Given the description of an element on the screen output the (x, y) to click on. 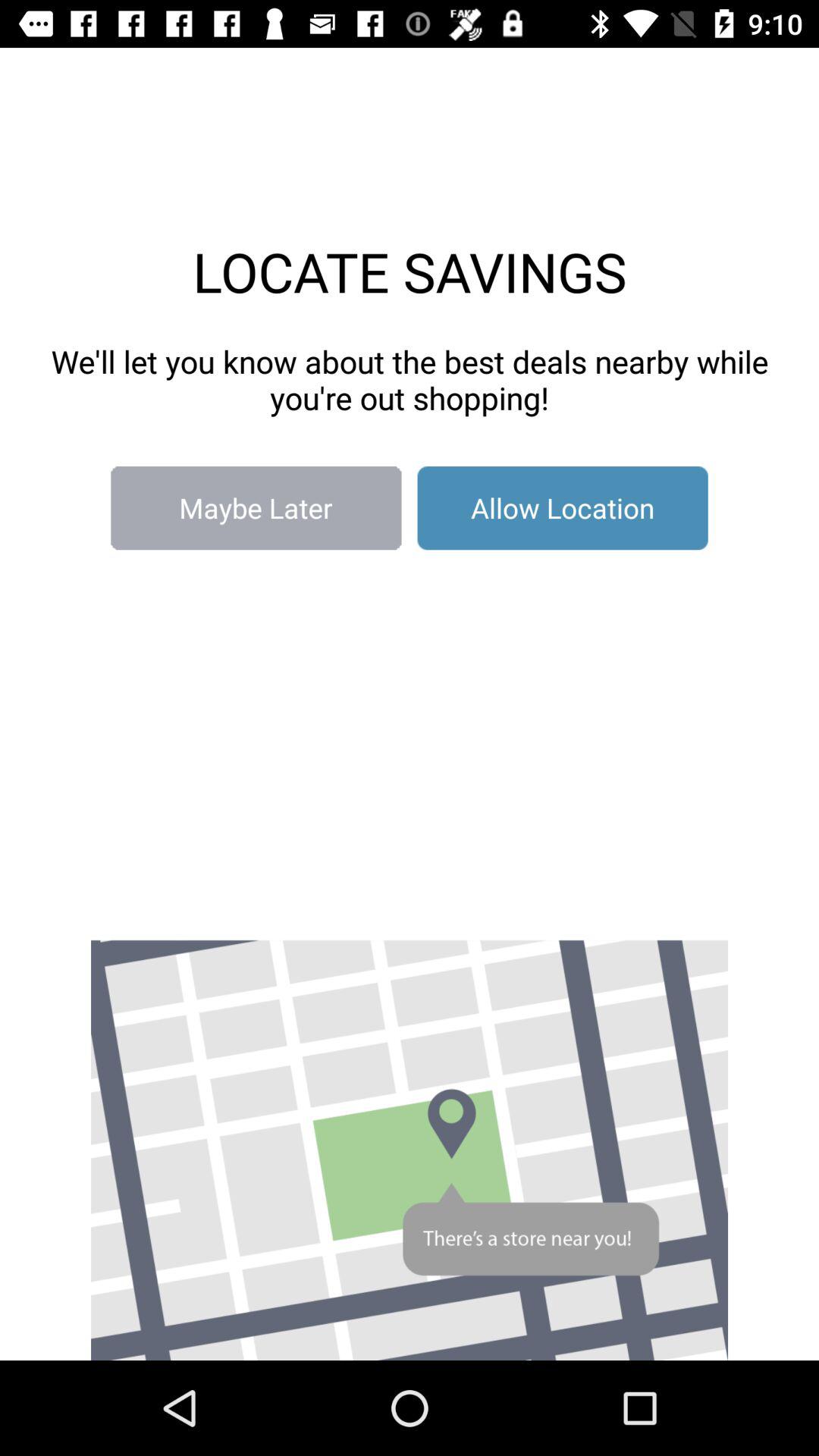
open maybe later item (255, 507)
